Given the description of an element on the screen output the (x, y) to click on. 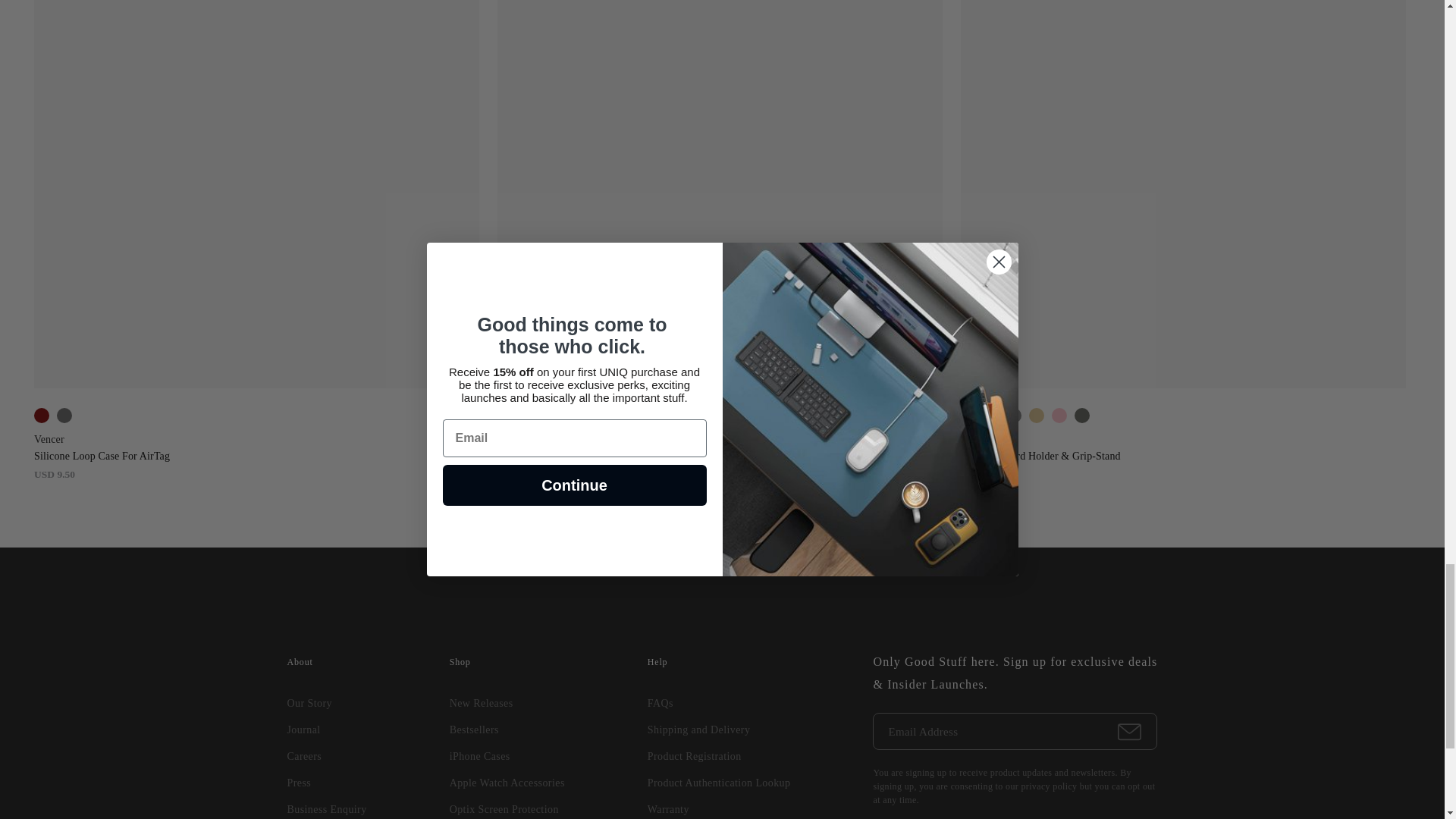
DarkGrey (526, 415)
DimGray (63, 415)
Grey (1013, 415)
Navy (989, 415)
LichenGreen (1081, 415)
Pink (1058, 415)
Black (967, 415)
DarkGrey (1430, 415)
Pink (549, 415)
Maroon (40, 415)
CanaryYellow (1035, 415)
White (504, 415)
